Given the description of an element on the screen output the (x, y) to click on. 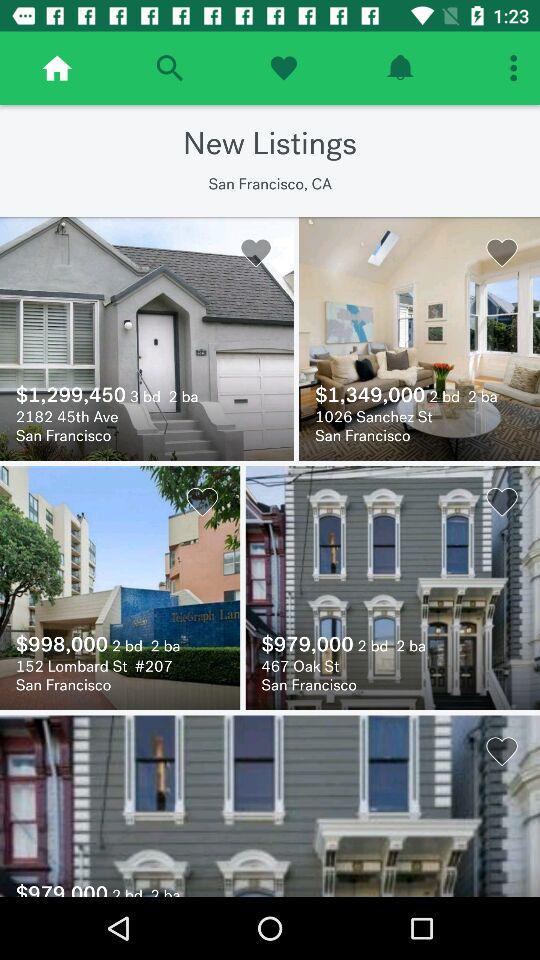
likes (283, 68)
